Given the description of an element on the screen output the (x, y) to click on. 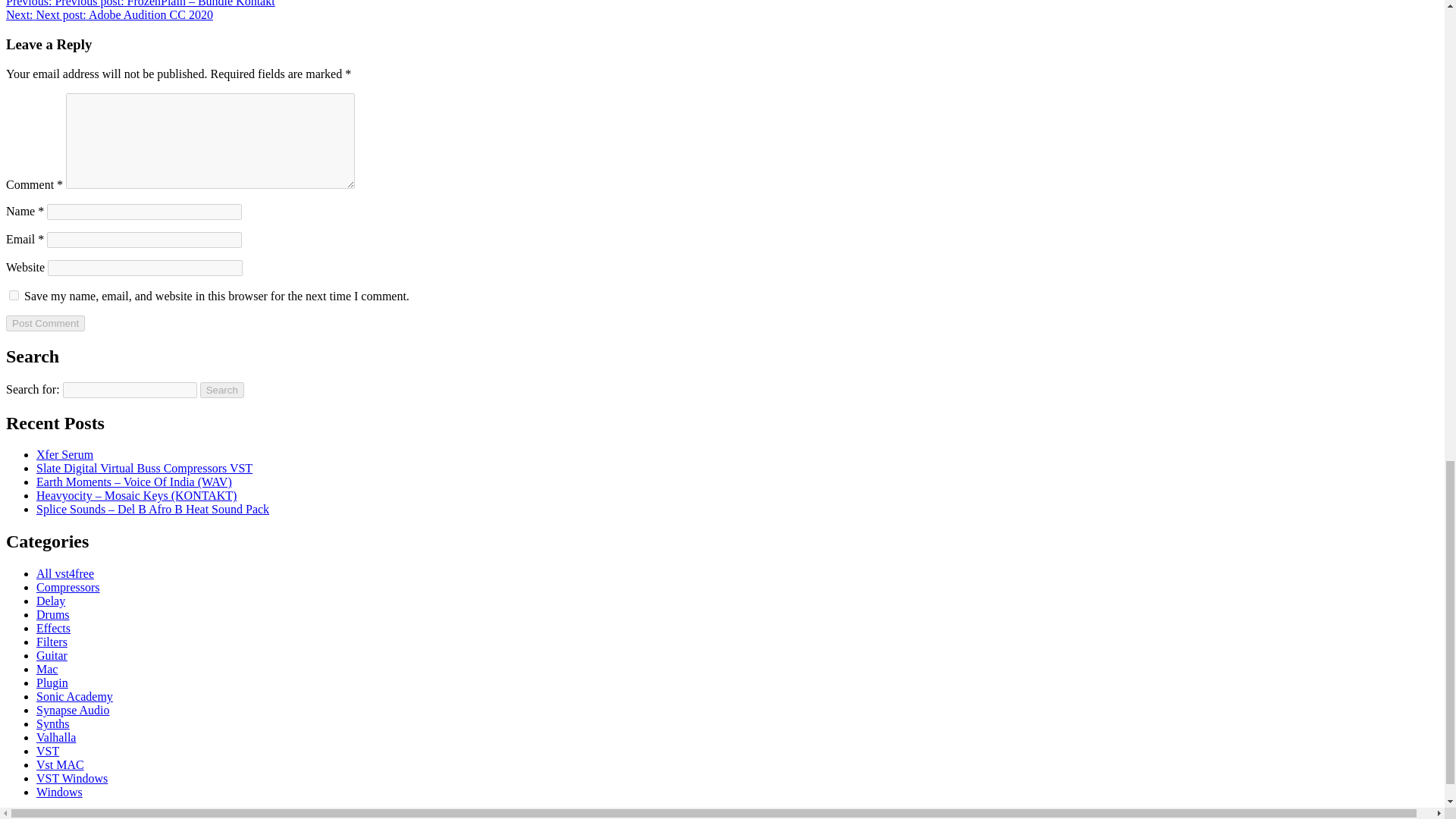
Valhalla (55, 737)
Compressors (68, 586)
Synths (52, 723)
Filters (51, 641)
Post Comment (44, 323)
Windows (59, 791)
Xfer Serum (64, 454)
Delay (50, 600)
Effects (52, 627)
Post Comment (44, 323)
